Given the description of an element on the screen output the (x, y) to click on. 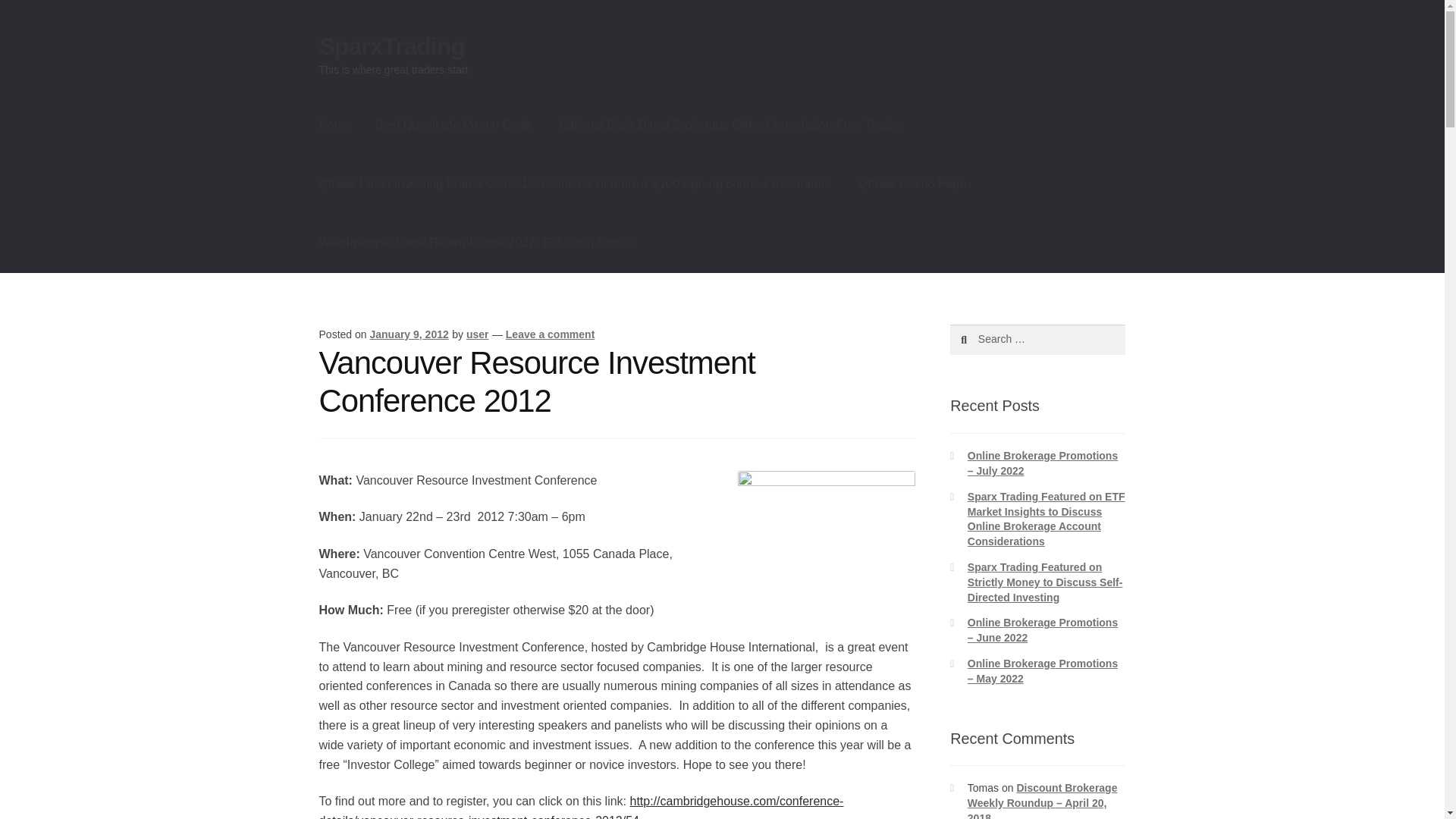
January 9, 2012 (408, 334)
Leave a comment (550, 334)
Best Questrade Promo Code (452, 124)
Qtrade Promo Page (911, 183)
Home (335, 124)
